Given the description of an element on the screen output the (x, y) to click on. 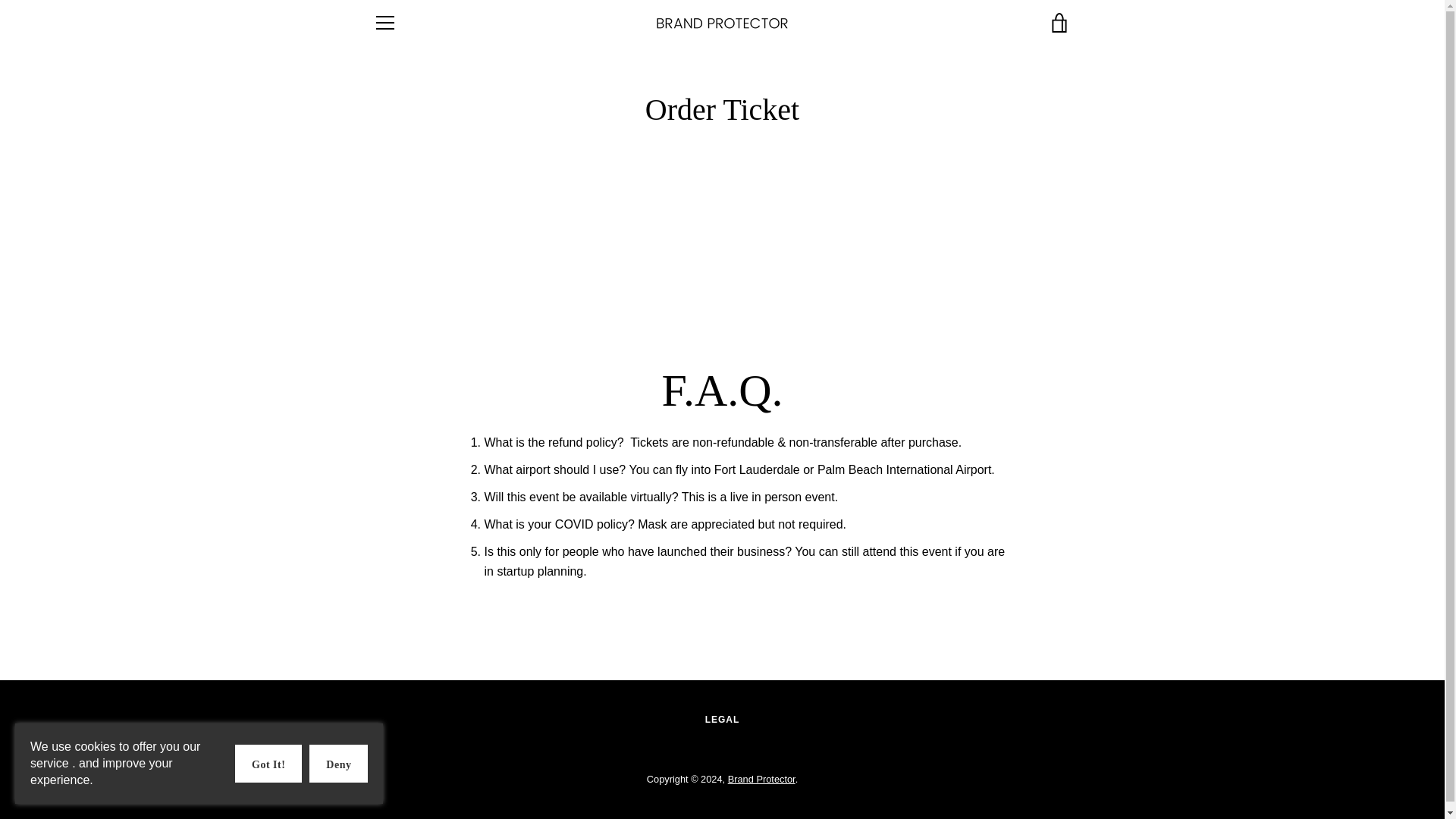
MENU (384, 22)
VIEW CART (1059, 22)
